Given the description of an element on the screen output the (x, y) to click on. 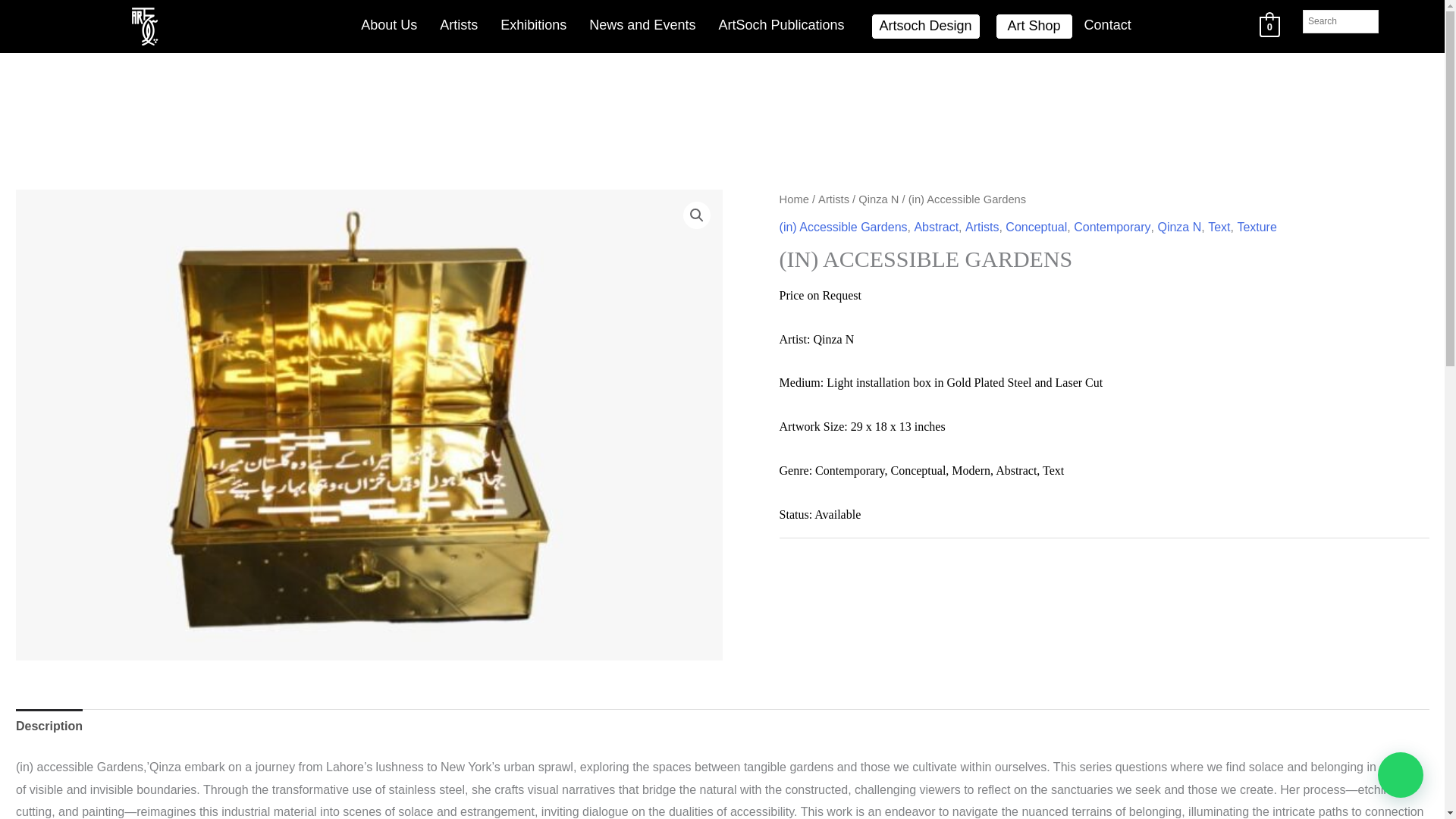
About Us (388, 25)
Artists (458, 25)
Art Shop (1034, 26)
Contact (1107, 25)
Exhibitions (533, 25)
News and Events (642, 25)
ArtSoch Publications (781, 25)
View your shopping cart (1269, 25)
Artsoch Design (924, 26)
